Given the description of an element on the screen output the (x, y) to click on. 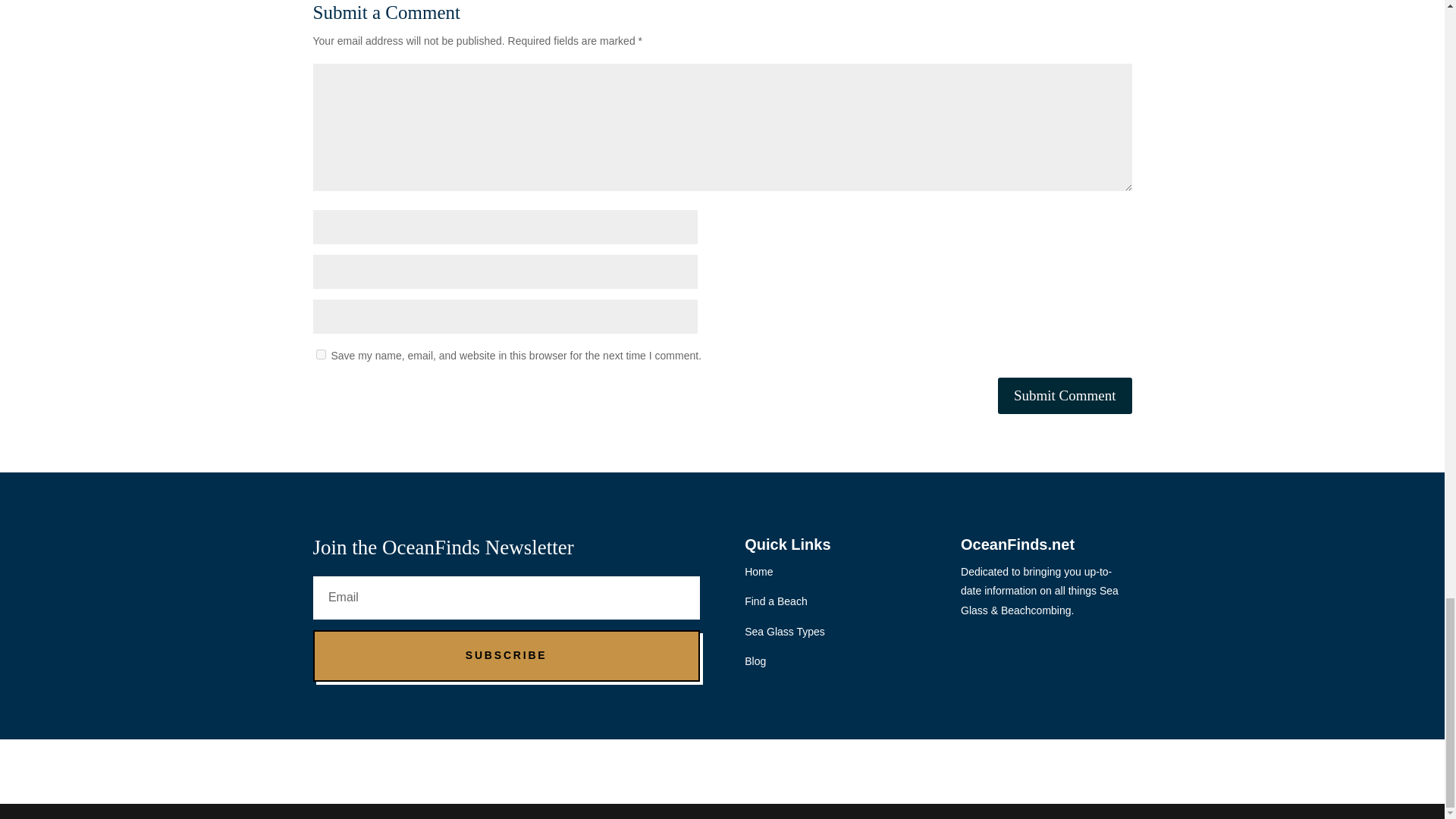
SUBSCRIBE (505, 655)
Submit Comment (1064, 395)
yes (319, 354)
Find a Beach (776, 601)
Home (758, 571)
Blog (754, 661)
Sea Glass Types (784, 631)
